Given the description of an element on the screen output the (x, y) to click on. 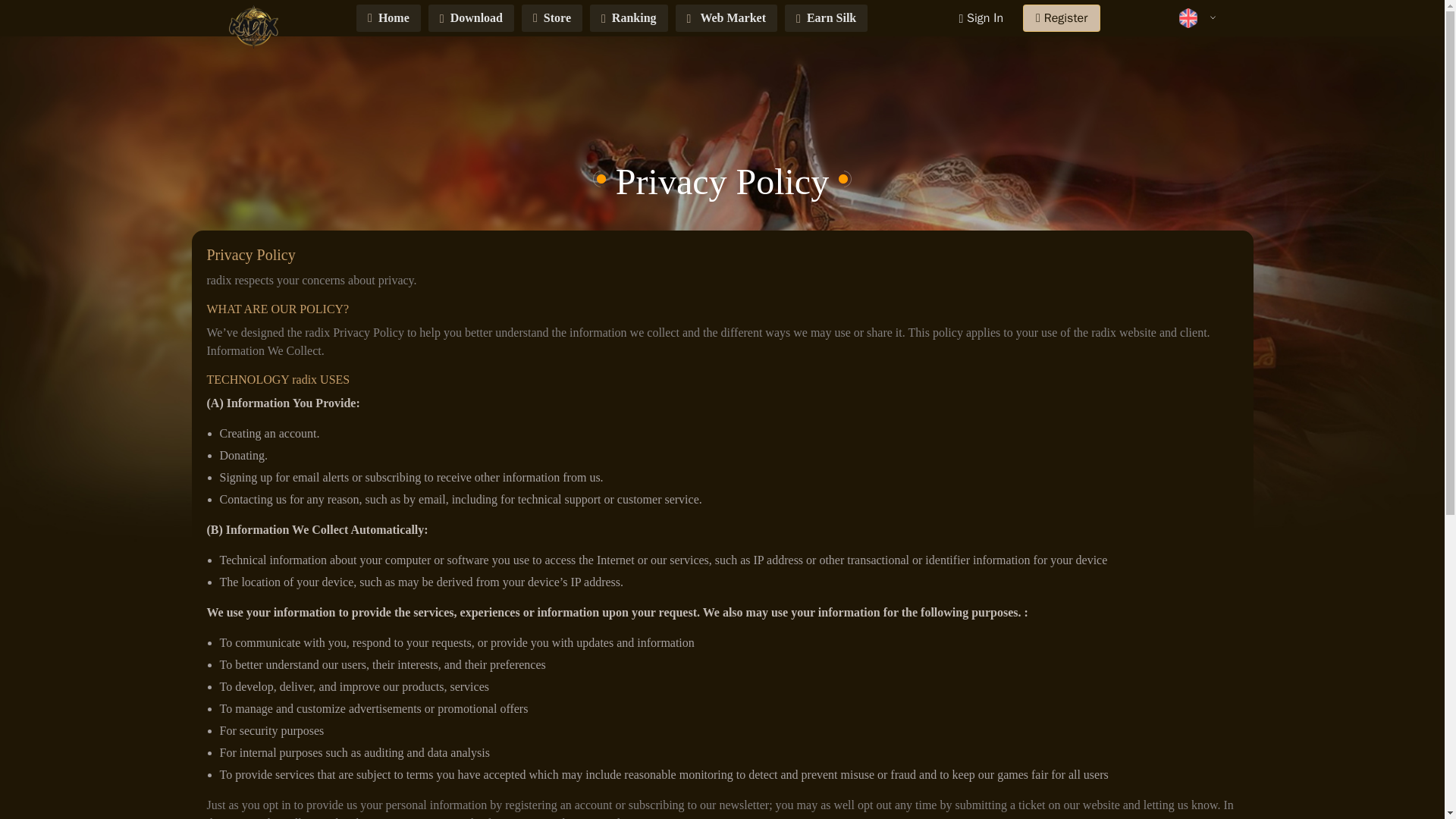
Store (551, 17)
Earn Silk (825, 17)
Register (1061, 17)
Download (470, 17)
Web Market (726, 17)
Ranking (628, 17)
Home (388, 17)
